Given the description of an element on the screen output the (x, y) to click on. 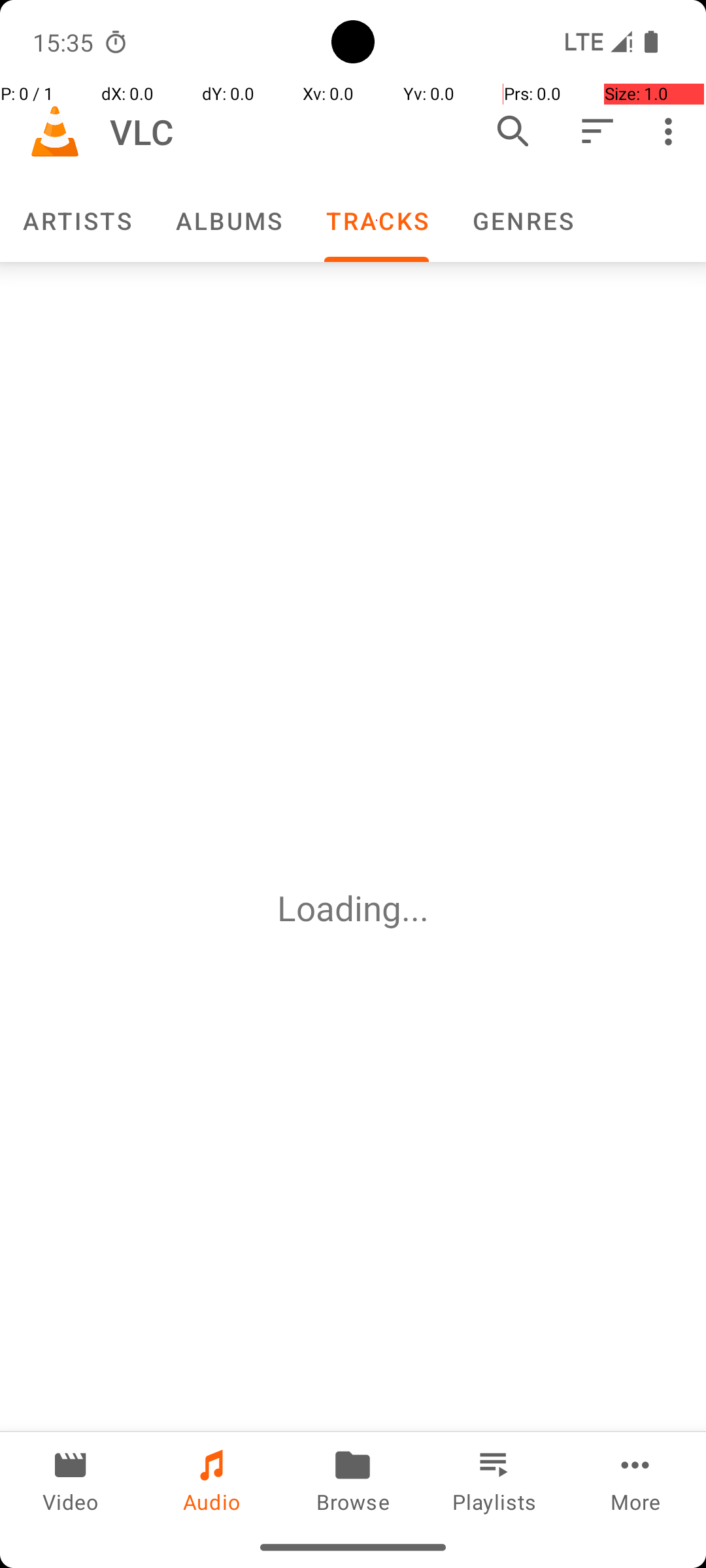
... Element type: android.widget.TextView (414, 907)
